Given the description of an element on the screen output the (x, y) to click on. 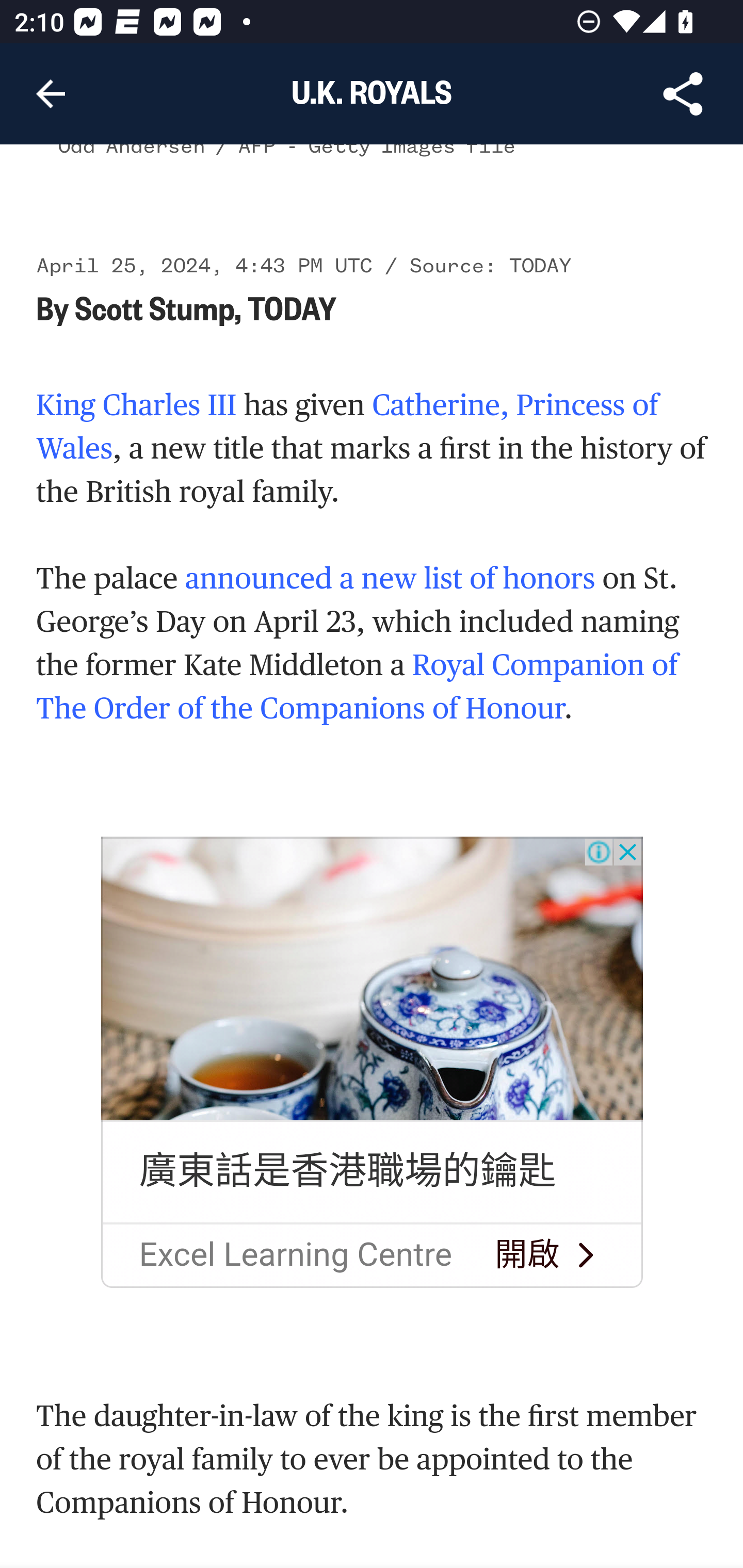
Navigate up (50, 93)
Share Article, button (683, 94)
King Charles III (137, 405)
Catherine, Princess of Wales (347, 427)
announced a new list of honors (389, 579)
廣東話是香港職場的鑰匙 (346, 1171)
Excel Learning Centre (295, 1255)
開啟 (526, 1255)
